Given the description of an element on the screen output the (x, y) to click on. 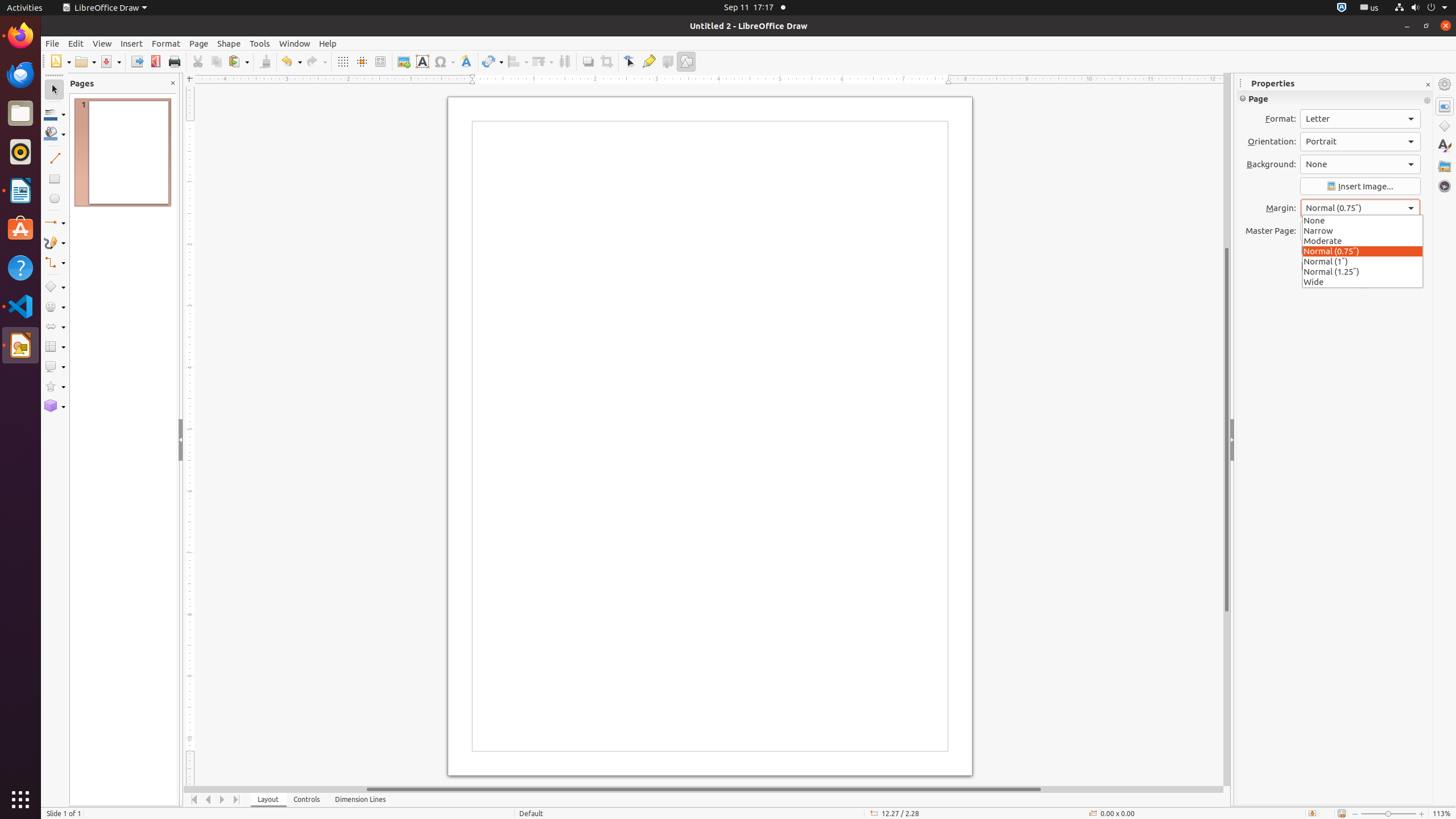
LibreOffice Writer Element type: push-button (20, 190)
Close Pane Element type: push-button (172, 82)
Show Applications Element type: toggle-button (20, 799)
Text Box Element type: push-button (421, 61)
3D Objects Element type: push-button (54, 406)
